Given the description of an element on the screen output the (x, y) to click on. 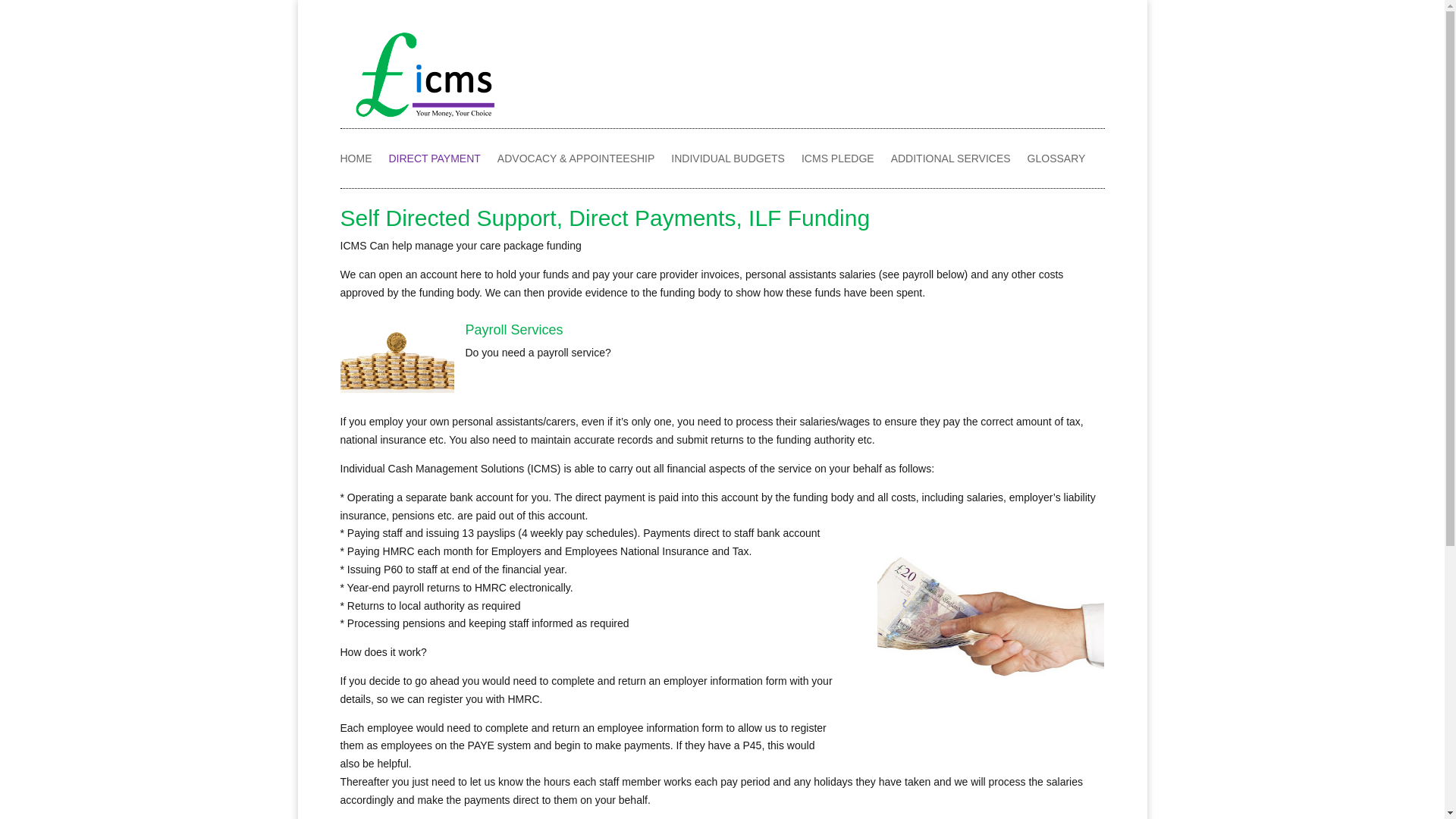
ICMS PLEDGE (838, 161)
ADDITIONAL SERVICES (950, 161)
GLOSSARY (1056, 161)
HOME (355, 161)
DIRECT PAYMENT (434, 161)
INDIVIDUAL BUDGETS (727, 161)
asset 2 (990, 617)
asset 0 (422, 72)
